Given the description of an element on the screen output the (x, y) to click on. 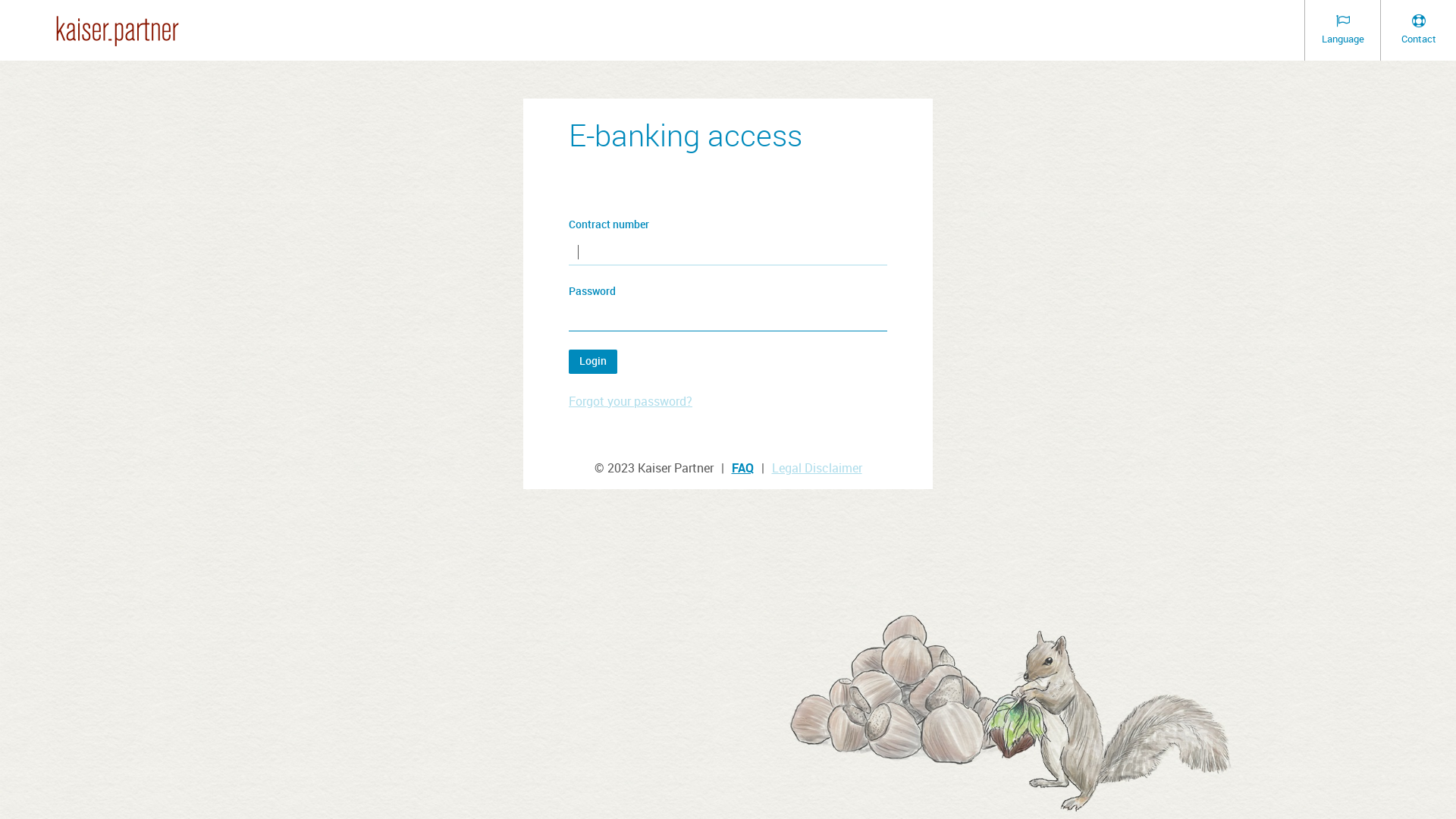
Legal Disclaimer Element type: text (816, 467)
Forgot your password? Element type: text (630, 400)
Login Element type: text (592, 361)
Language Element type: text (1342, 30)
FAQ Element type: text (742, 467)
